Given the description of an element on the screen output the (x, y) to click on. 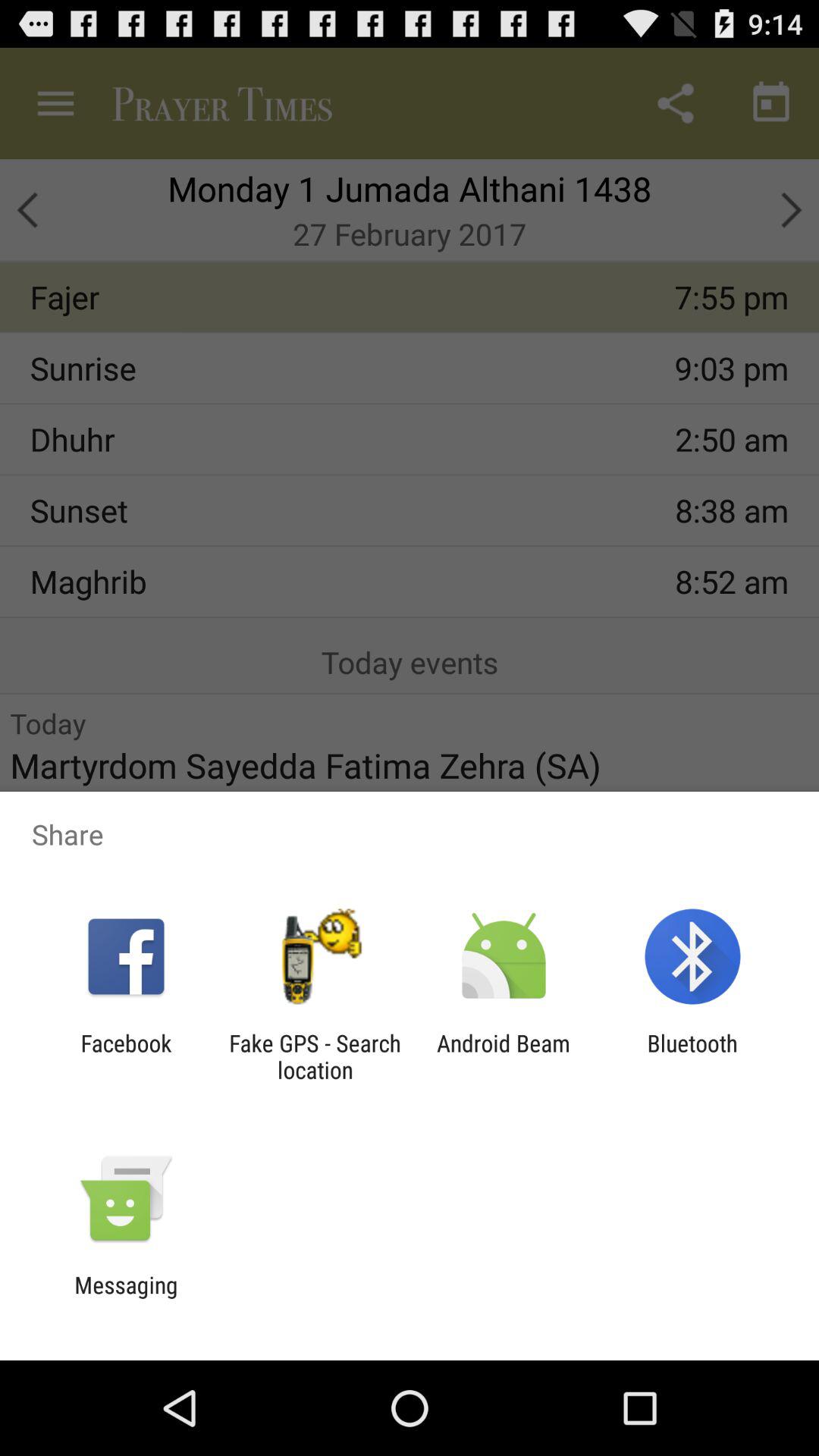
turn off the icon at the bottom right corner (692, 1056)
